Given the description of an element on the screen output the (x, y) to click on. 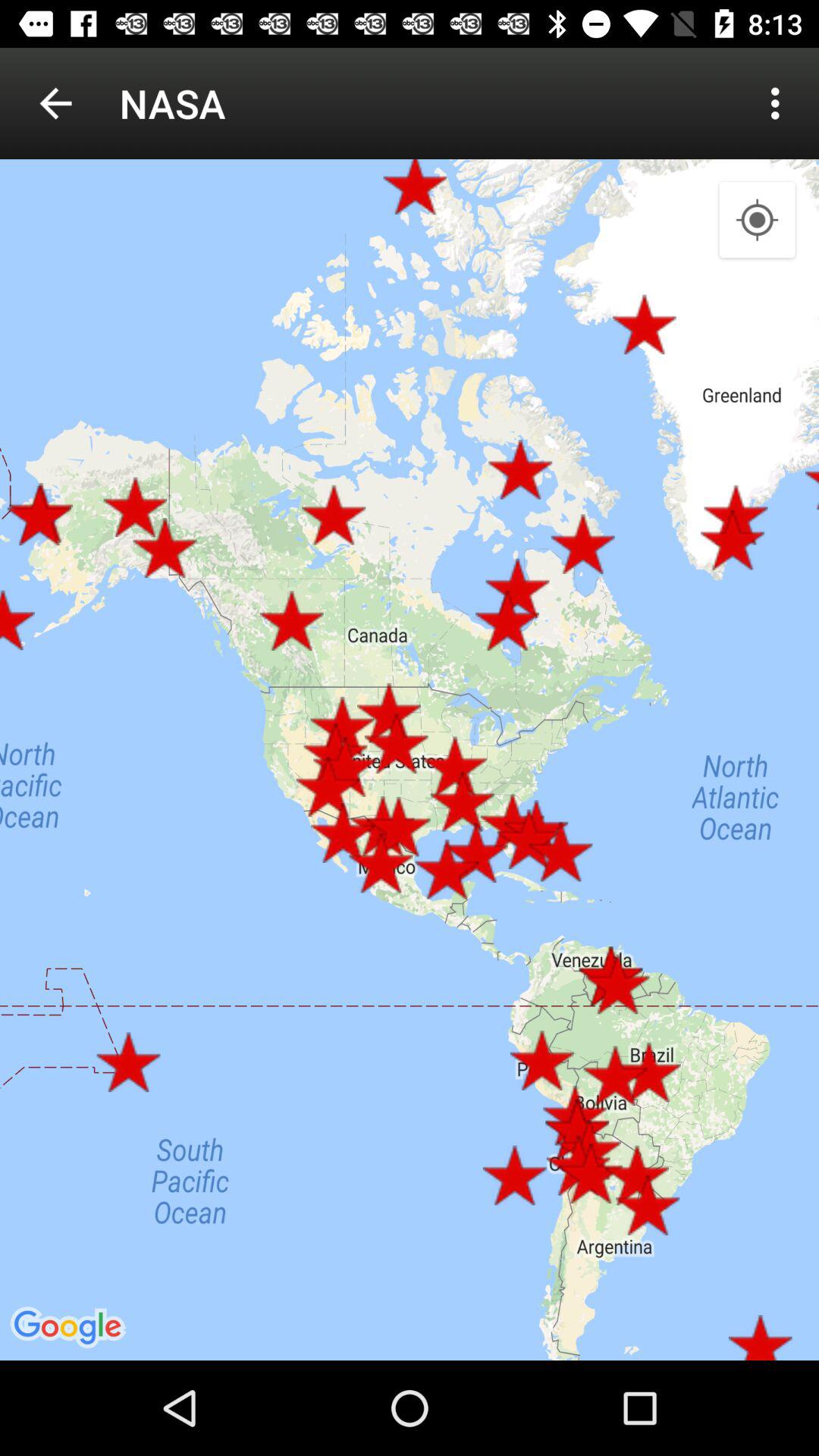
turn on the item at the center (409, 759)
